Given the description of an element on the screen output the (x, y) to click on. 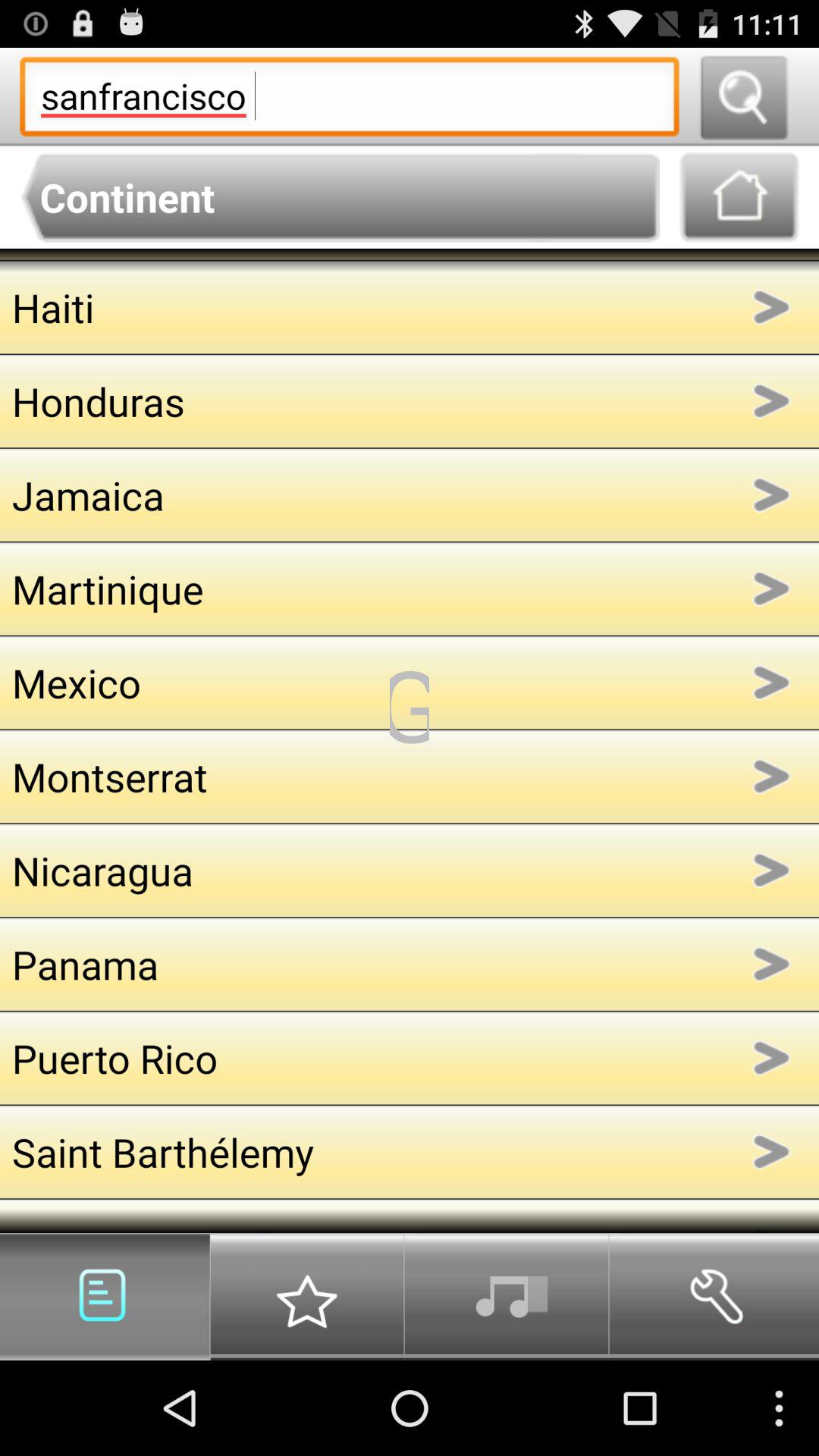
go home (739, 197)
